Given the description of an element on the screen output the (x, y) to click on. 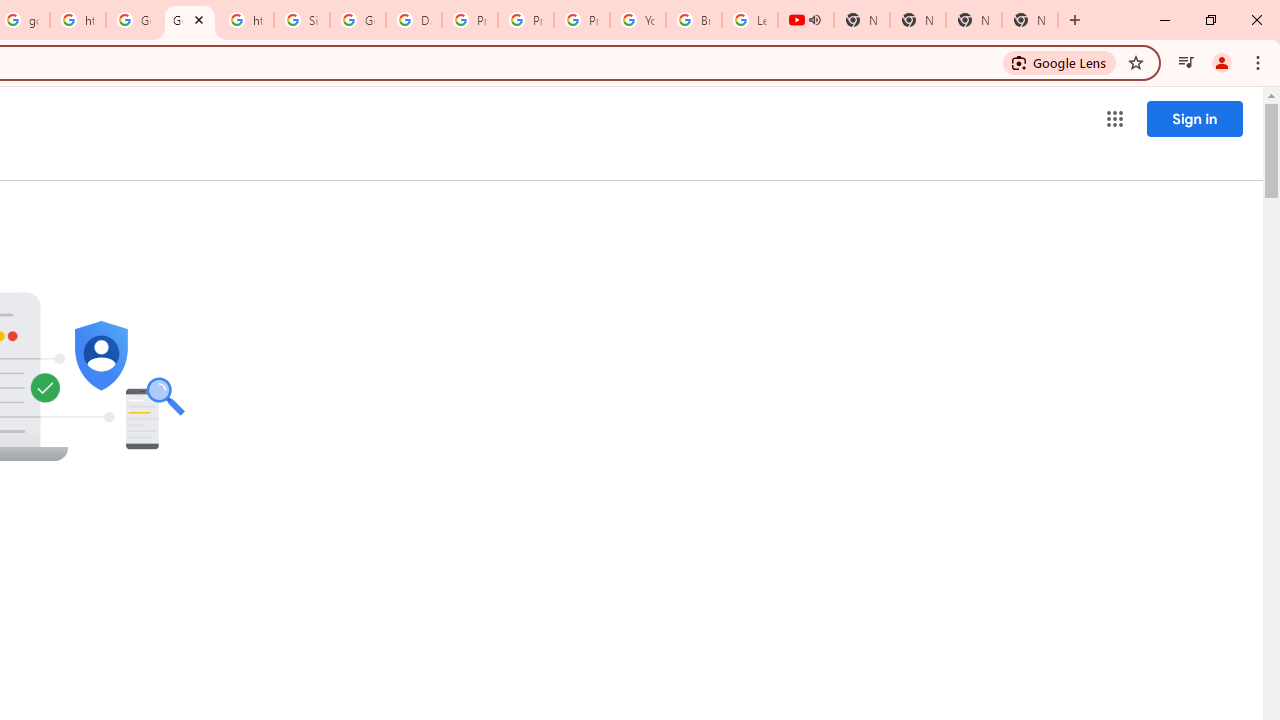
YouTube (637, 20)
https://scholar.google.com/ (245, 20)
Sign in - Google Accounts (301, 20)
